Given the description of an element on the screen output the (x, y) to click on. 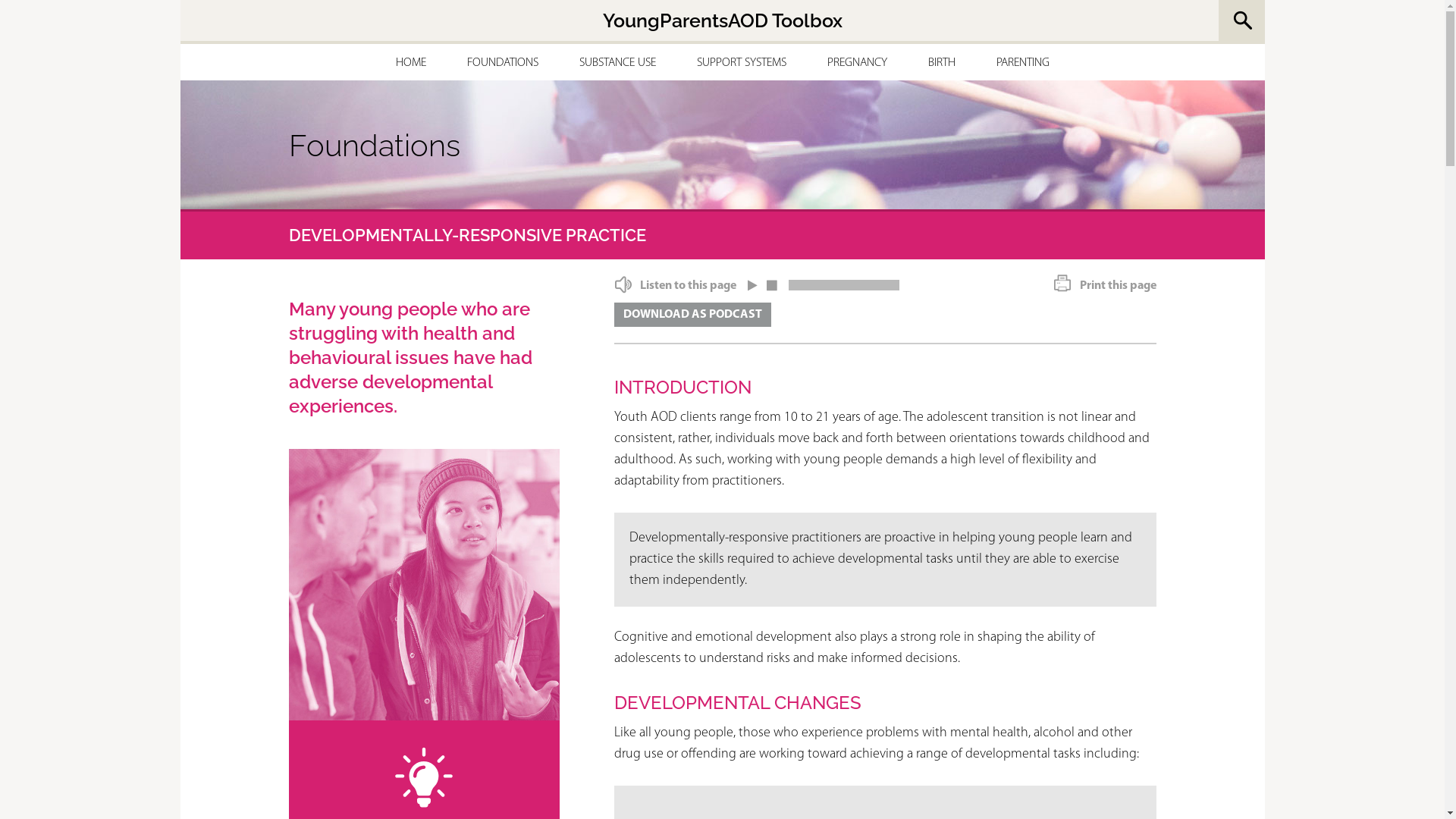
FOUNDATIONS Element type: text (502, 63)
BIRTH Element type: text (941, 63)
HOME Element type: text (410, 63)
Print this page Element type: text (1105, 285)
PREGNANCY Element type: text (856, 63)
SUPPORT SYSTEMS Element type: text (740, 63)
SUBSTANCE USE Element type: text (617, 63)
Jump to navigation Element type: text (722, 2)
YoungParentsAOD Toolbox Element type: text (721, 20)
play Element type: text (753, 281)
DOWNLOAD AS PODCAST Element type: text (692, 314)
stop Element type: text (771, 281)
PARENTING Element type: text (1022, 63)
